Given the description of an element on the screen output the (x, y) to click on. 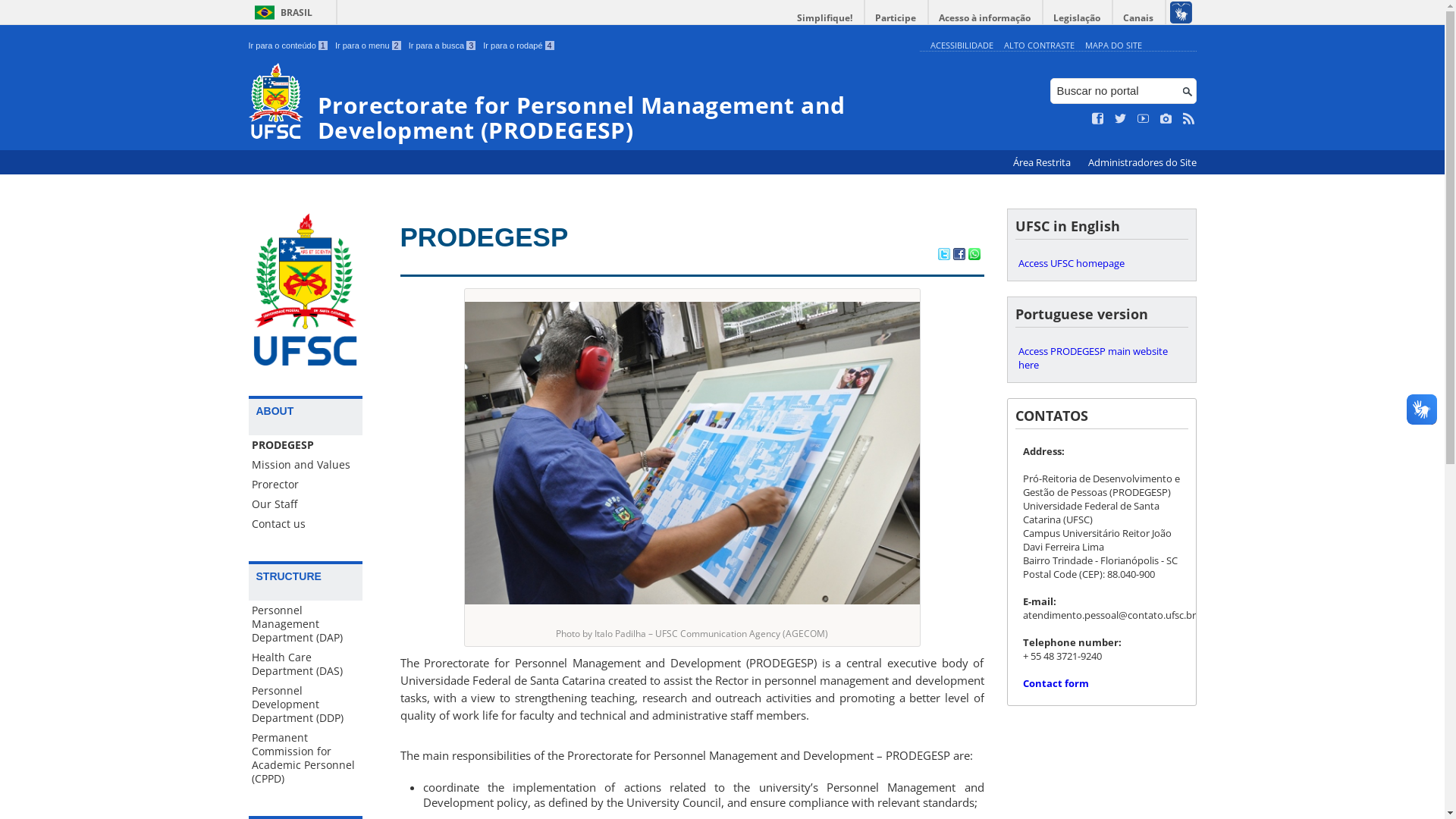
PRODEGESP Element type: text (484, 236)
Simplifique! Element type: text (825, 18)
Administradores do Site Element type: text (1141, 162)
Contact form Element type: text (1055, 683)
BRASIL Element type: text (280, 12)
Personnel Management Department (DAP) Element type: text (305, 623)
PRODEGESP Element type: text (305, 445)
Mission and Values Element type: text (305, 464)
Health Care Department (DAS) Element type: text (305, 663)
Compartilhar no Twitter Element type: hover (943, 255)
Permanent Commission for Academic Personnel (CPPD) Element type: text (305, 758)
Contact us Element type: text (305, 523)
Our Staff Element type: text (305, 504)
Canais Element type: text (1138, 18)
MAPA DO SITE Element type: text (1112, 44)
Access PRODEGESP main website here Element type: text (1100, 357)
Participe Element type: text (895, 18)
Ir para o menu 2 Element type: text (368, 45)
Personnel Development Department (DDP) Element type: text (305, 704)
Siga no Twitter Element type: hover (1120, 118)
Curta no Facebook Element type: hover (1098, 118)
ACESSIBILIDADE Element type: text (960, 44)
Compartilhar no WhatsApp Element type: hover (973, 255)
Veja no Instagram Element type: hover (1166, 118)
Access UFSC homepage Element type: text (1100, 263)
Prorector Element type: text (305, 484)
ALTO CONTRASTE Element type: text (1039, 44)
Ir para a busca 3 Element type: text (442, 45)
Compartilhar no Facebook Element type: hover (958, 255)
